Given the description of an element on the screen output the (x, y) to click on. 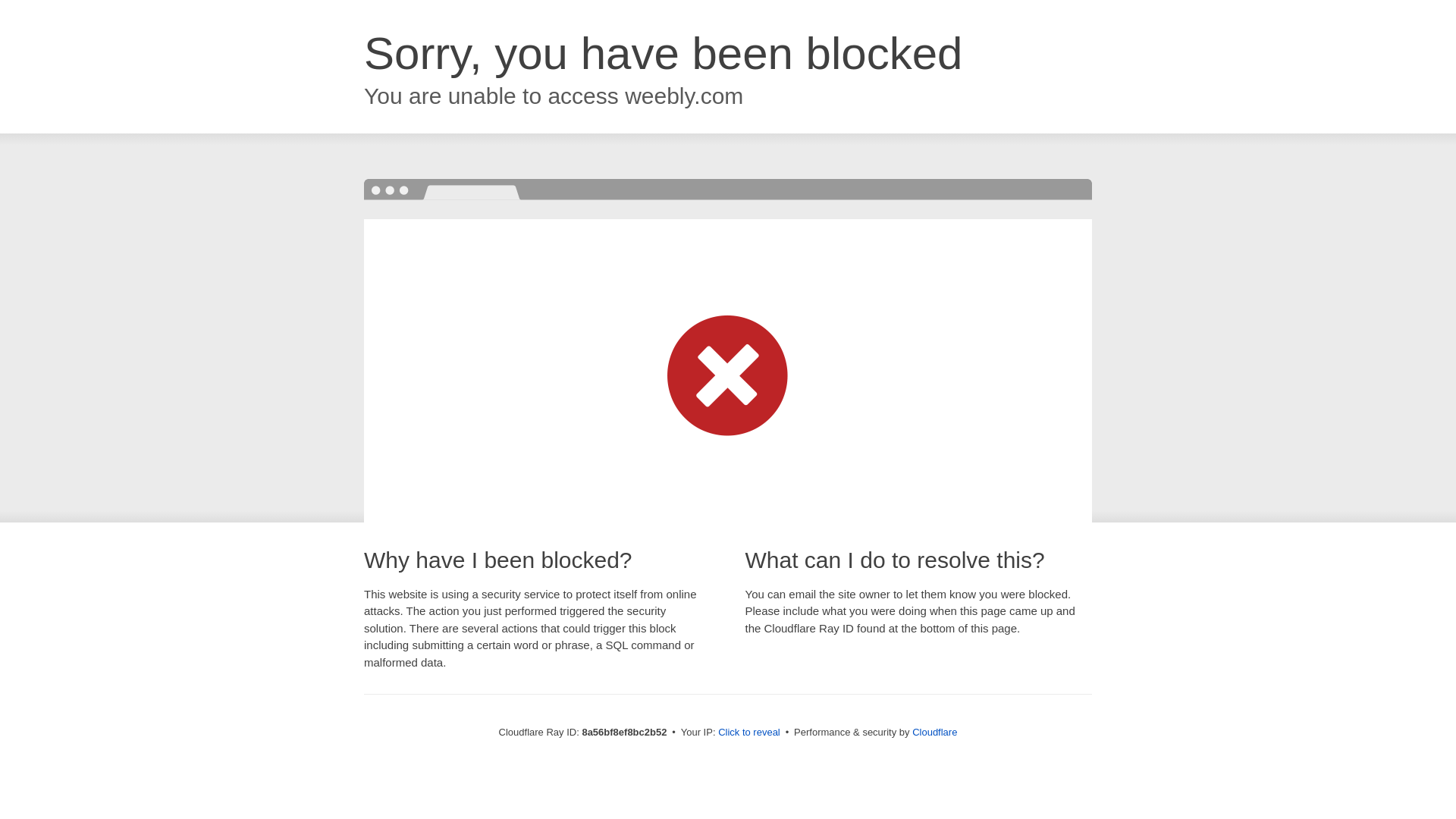
Cloudflare (934, 731)
Click to reveal (748, 732)
